Given the description of an element on the screen output the (x, y) to click on. 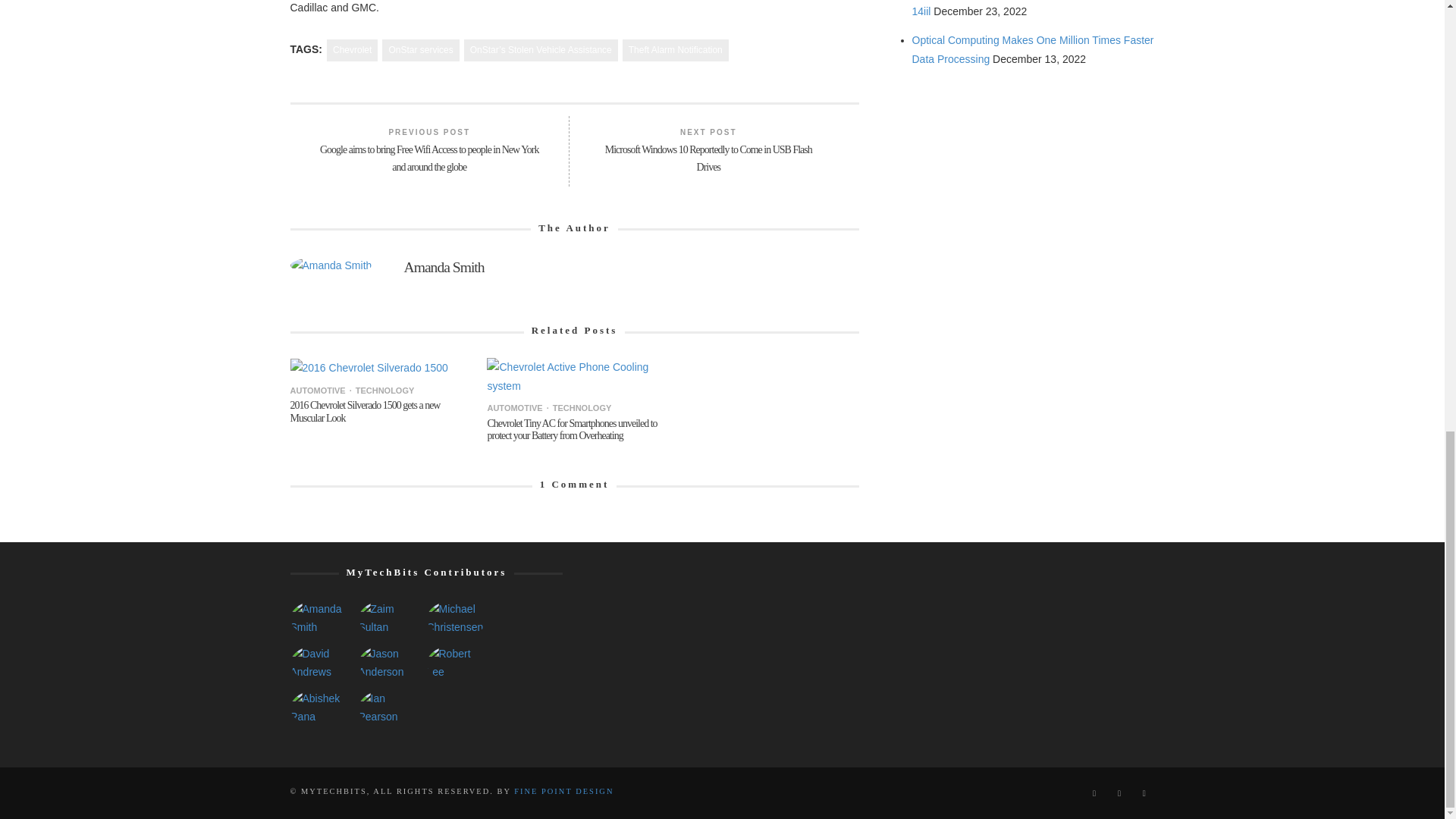
View all posts in Automotive (317, 389)
View all posts in Technology (380, 389)
Posts by Amanda Smith (330, 268)
